Given the description of an element on the screen output the (x, y) to click on. 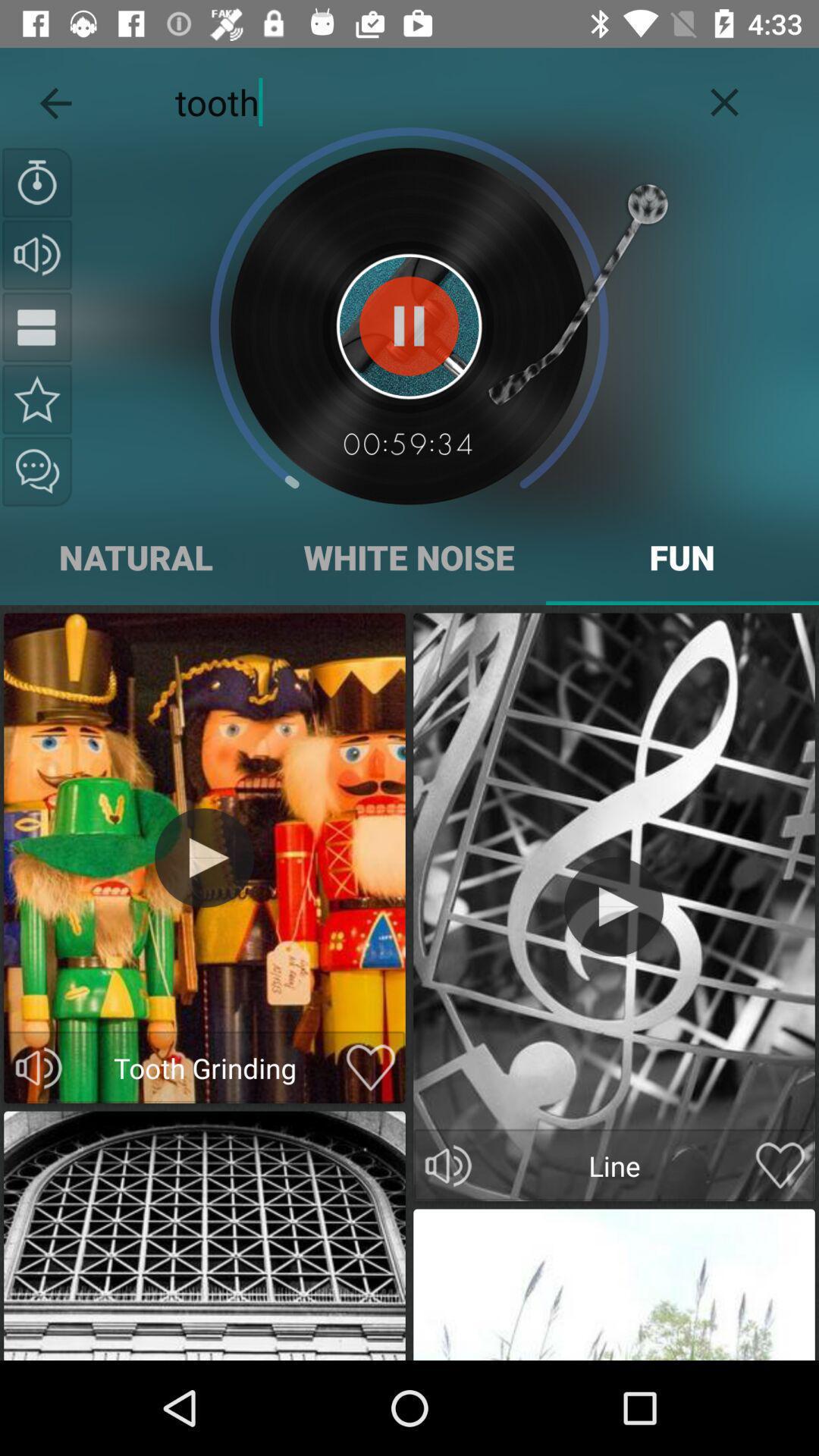
choose item next to the tooth icon (55, 99)
